Given the description of an element on the screen output the (x, y) to click on. 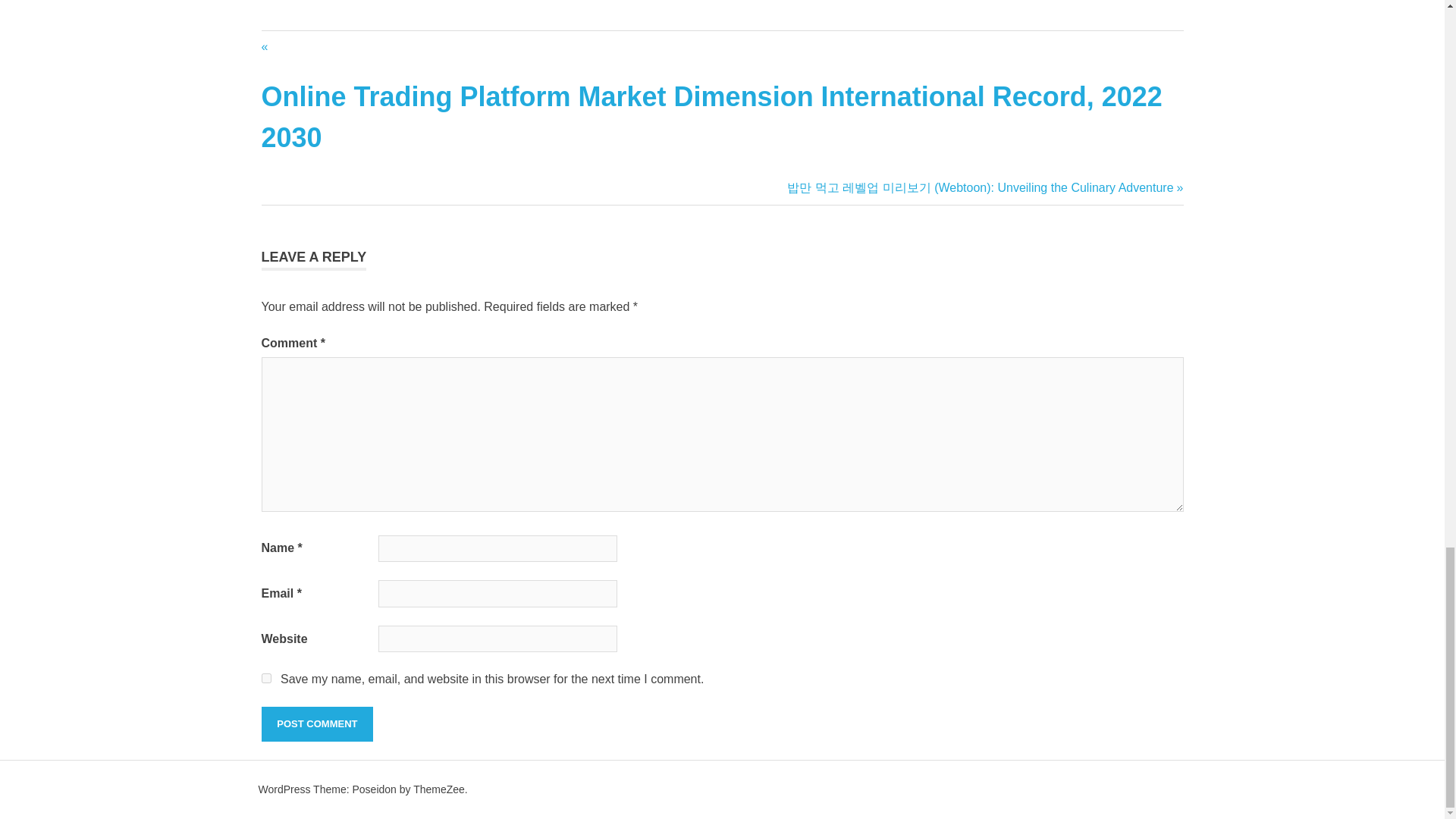
Post Comment (316, 724)
Post Comment (316, 724)
yes (265, 678)
